Given the description of an element on the screen output the (x, y) to click on. 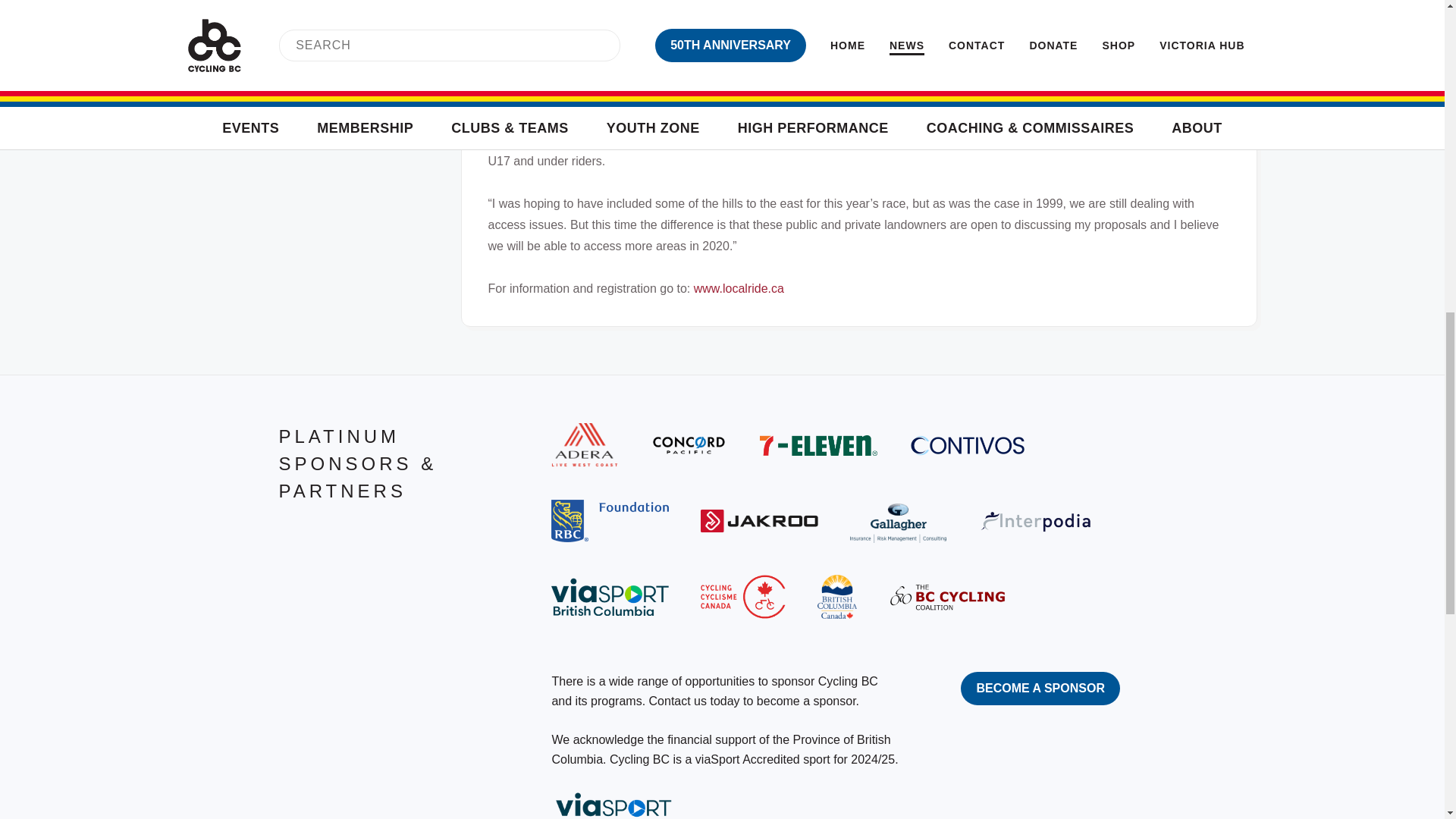
Interpodia logo (1037, 520)
jakroo-logo (759, 520)
Gallagher-Logo (898, 520)
BCCC-short-logo-2020-web (947, 596)
logo-viasport-min (609, 596)
adera (584, 444)
Concord Pacific Logo Clear BG (688, 444)
bc-logo (836, 596)
cycling-canada-logo-long (742, 596)
